Given the description of an element on the screen output the (x, y) to click on. 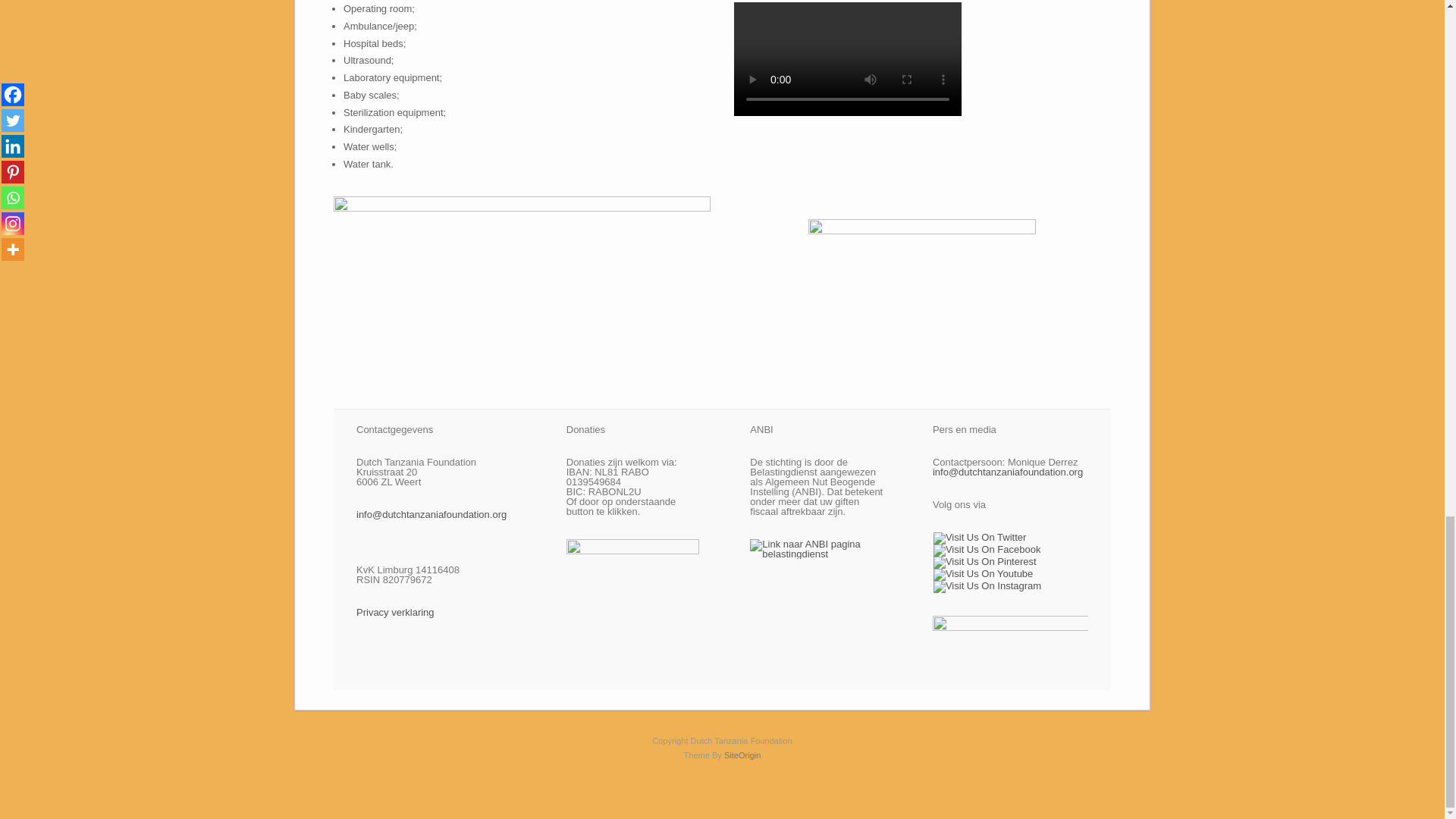
Visit Us On Pinterest (984, 560)
SiteOrigin (742, 755)
Children belong (921, 280)
Privacy verklaring (394, 612)
Visit Us On Twitter (979, 536)
Visit Us On Facebook (987, 548)
Visit Us On Youtube (982, 572)
steunons afbeelding (521, 289)
